Given the description of an element on the screen output the (x, y) to click on. 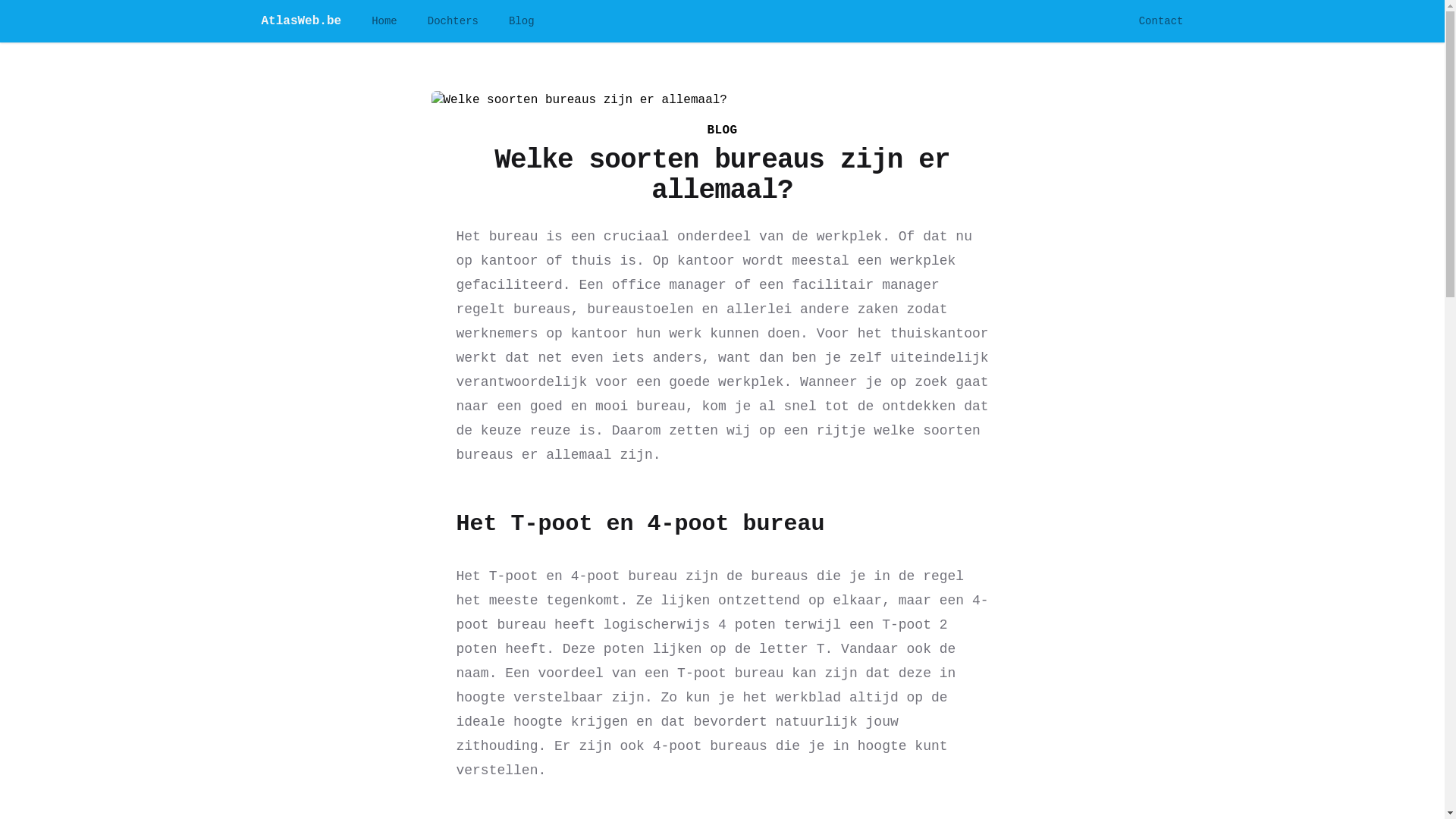
Dochters Element type: text (452, 20)
Home Element type: text (384, 20)
AtlasWeb.be Element type: text (300, 21)
Contact Element type: text (1161, 20)
Blog Element type: text (521, 20)
